Given the description of an element on the screen output the (x, y) to click on. 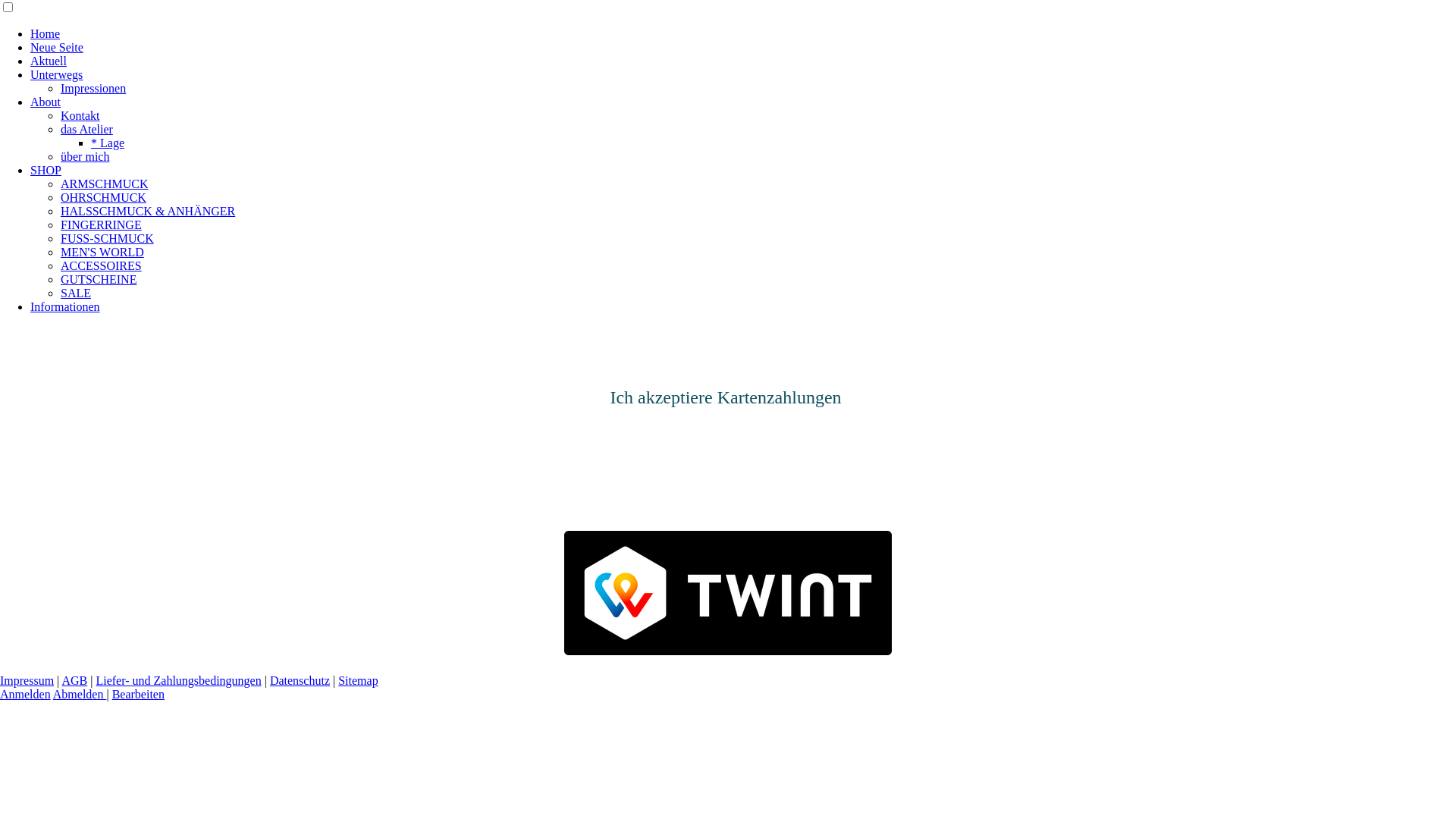
SALE Element type: text (75, 292)
About Element type: text (45, 101)
GUTSCHEINE Element type: text (98, 279)
Impressionen Element type: text (92, 87)
SHOP Element type: text (45, 169)
Neue Seite Element type: text (56, 46)
das Atelier Element type: text (86, 128)
Unterwegs Element type: text (56, 74)
Bearbeiten Element type: text (138, 693)
FINGERRINGE Element type: text (100, 224)
Datenschutz Element type: text (299, 680)
Aktuell Element type: text (48, 60)
Anmelden Element type: text (25, 693)
ACCESSOIRES Element type: text (100, 265)
Abmelden Element type: text (79, 693)
FUSS-SCHMUCK Element type: text (106, 238)
OHRSCHMUCK Element type: text (103, 197)
Home Element type: text (44, 33)
Liefer- und Zahlungsbedingungen Element type: text (177, 680)
AGB Element type: text (74, 680)
Impressum Element type: text (26, 680)
MEN'S WORLD Element type: text (102, 251)
Kontakt Element type: text (80, 115)
Informationen Element type: text (65, 306)
* Lage Element type: text (107, 142)
ARMSCHMUCK Element type: text (104, 183)
Sitemap Element type: text (357, 680)
